Given the description of an element on the screen output the (x, y) to click on. 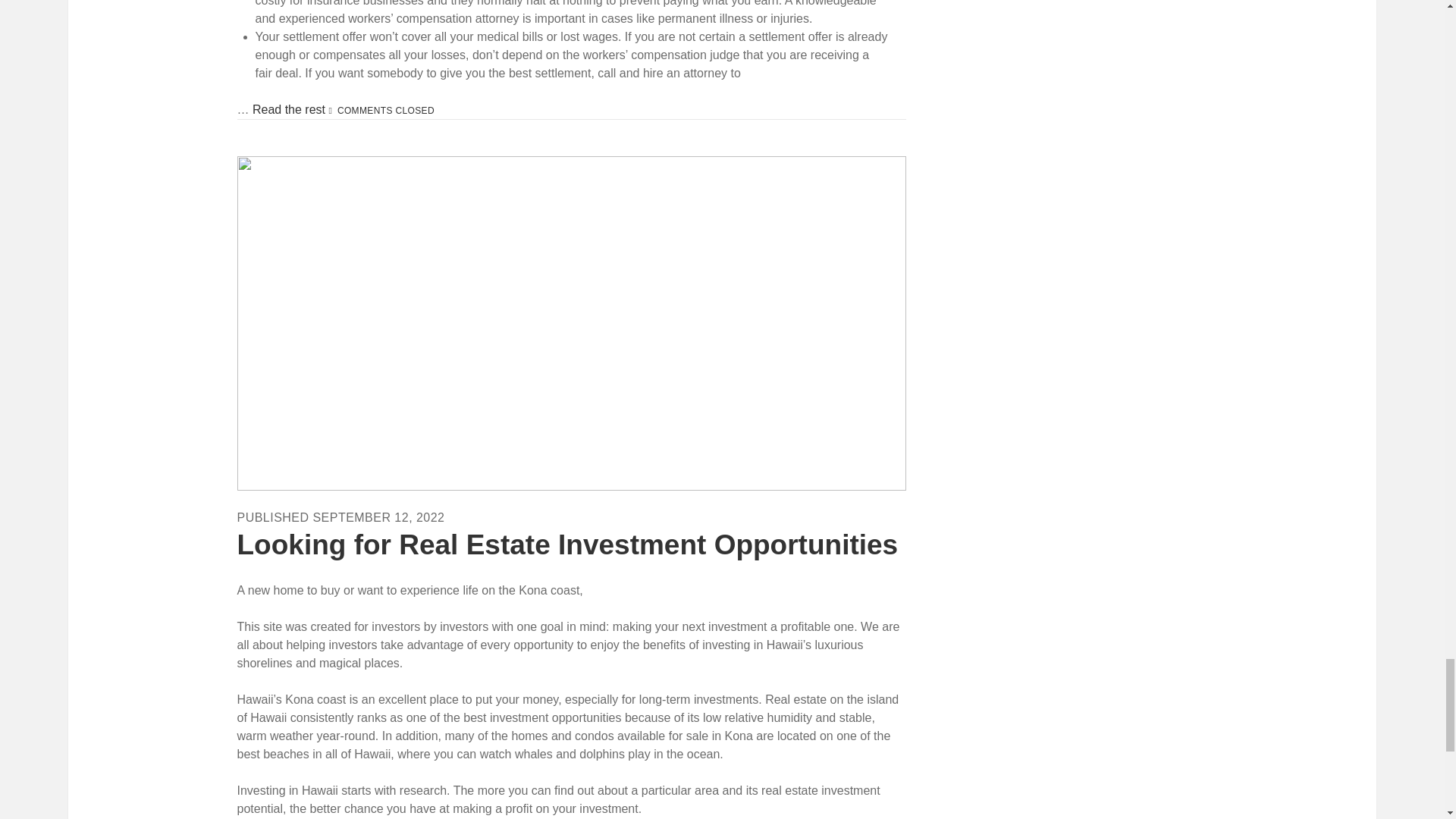
Read the rest (290, 109)
Looking for Real Estate Investment Opportunities (566, 544)
